Given the description of an element on the screen output the (x, y) to click on. 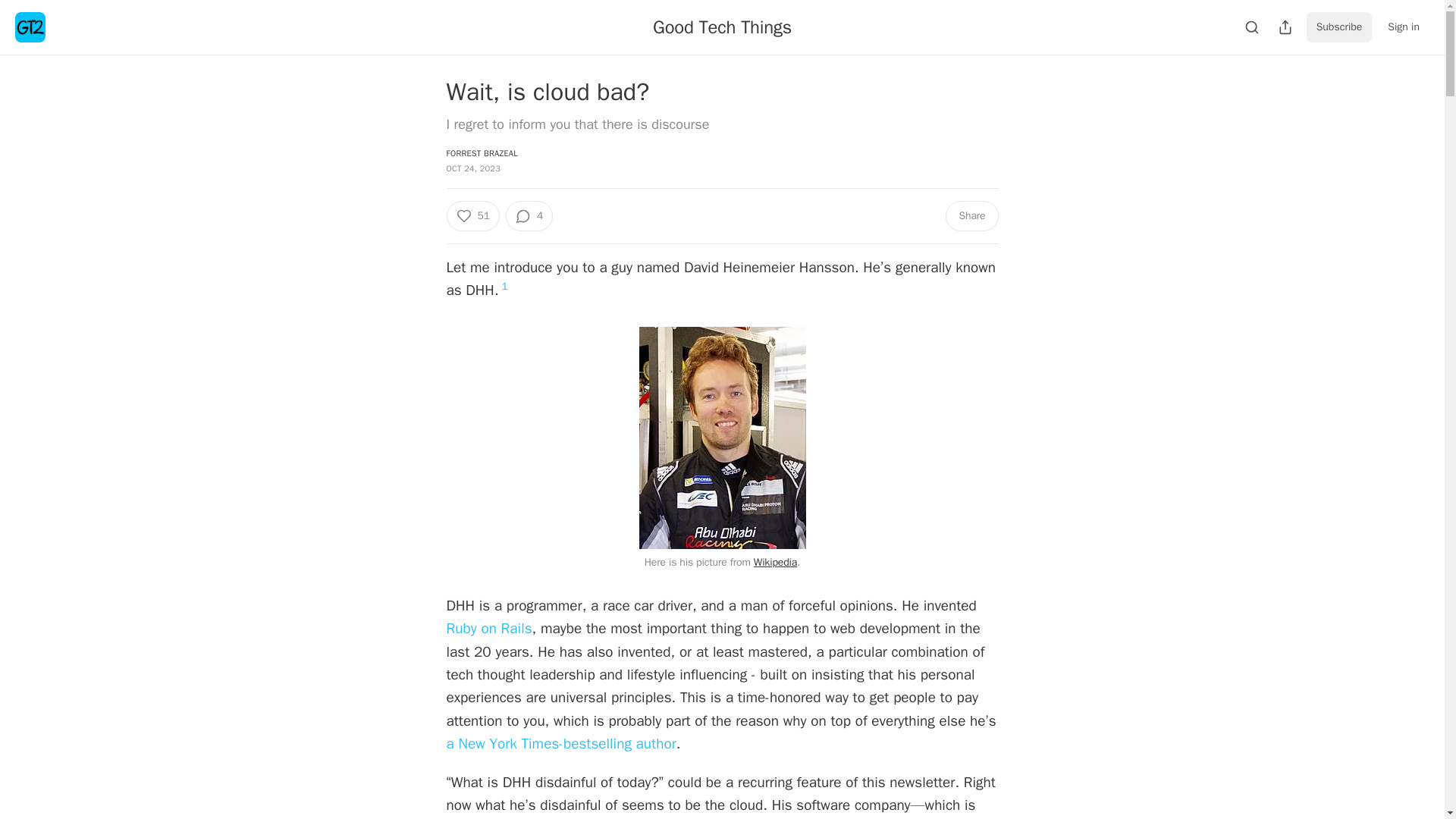
4 (529, 215)
Ruby on Rails (488, 628)
FORREST BRAZEAL (480, 153)
Good Tech Things (722, 26)
a New York Times-bestselling author (560, 743)
Wikipedia (775, 562)
Sign in (1403, 27)
51 (472, 215)
Share (970, 215)
Subscribe (1339, 27)
